Given the description of an element on the screen output the (x, y) to click on. 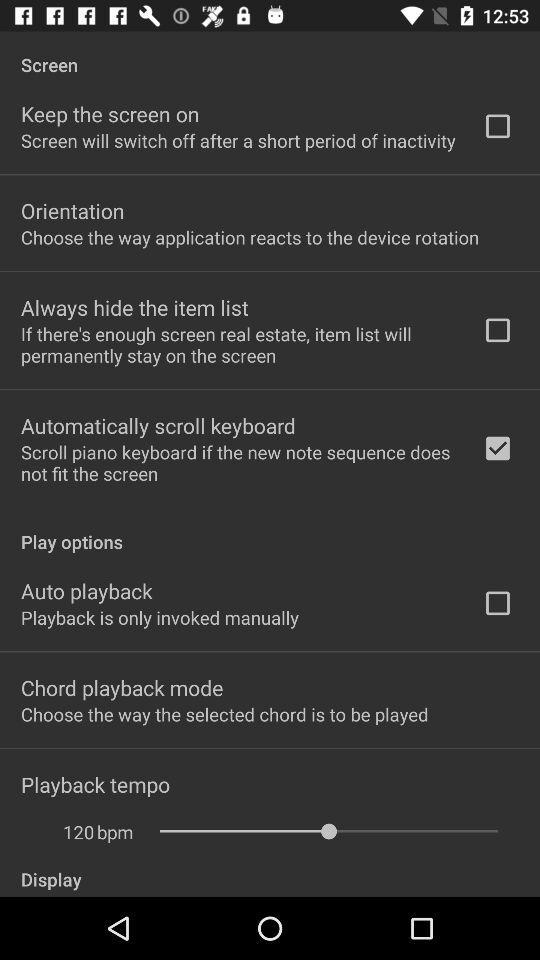
choose app above the display item (115, 831)
